Given the description of an element on the screen output the (x, y) to click on. 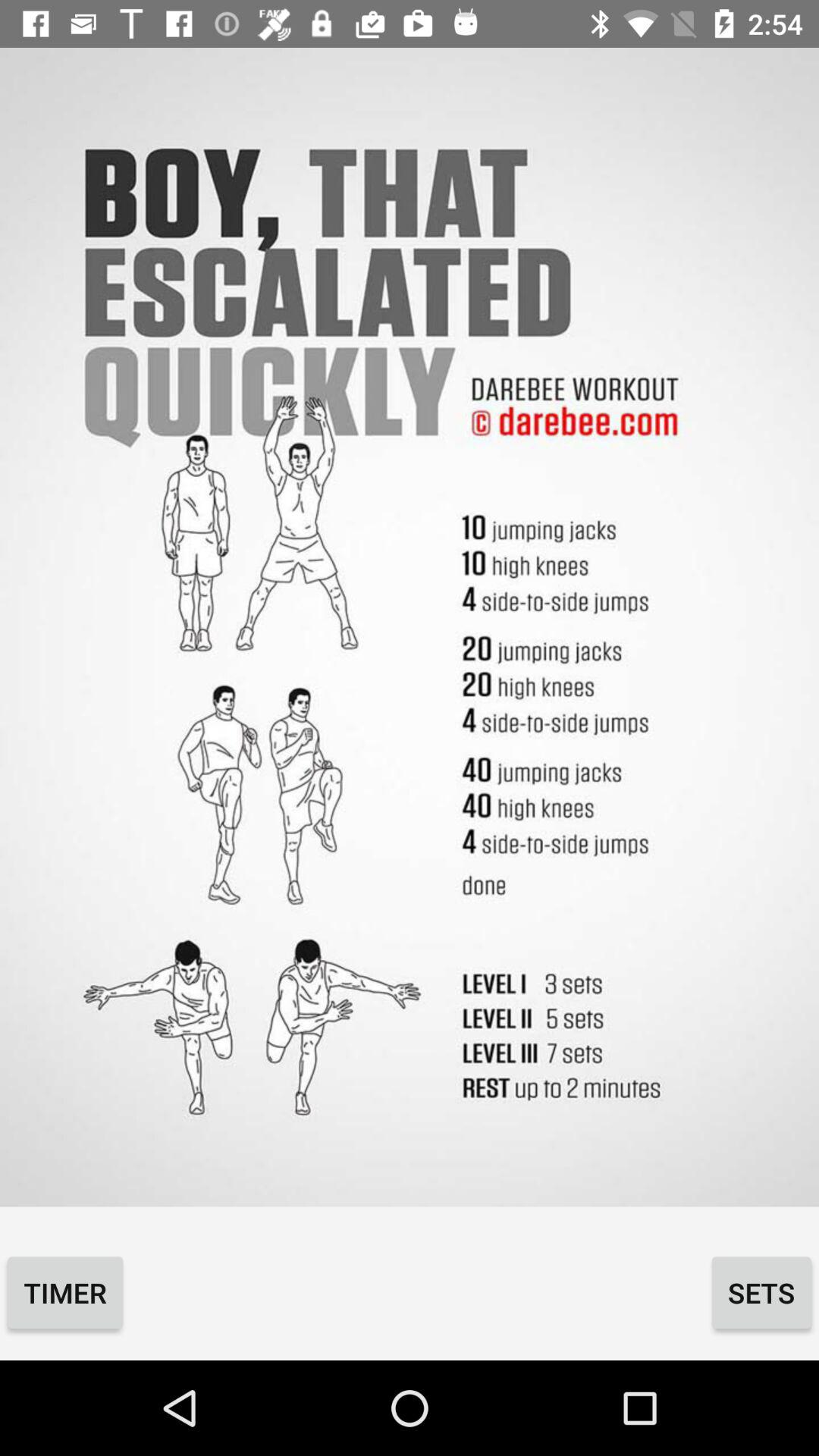
turn on item at the bottom left corner (65, 1292)
